Given the description of an element on the screen output the (x, y) to click on. 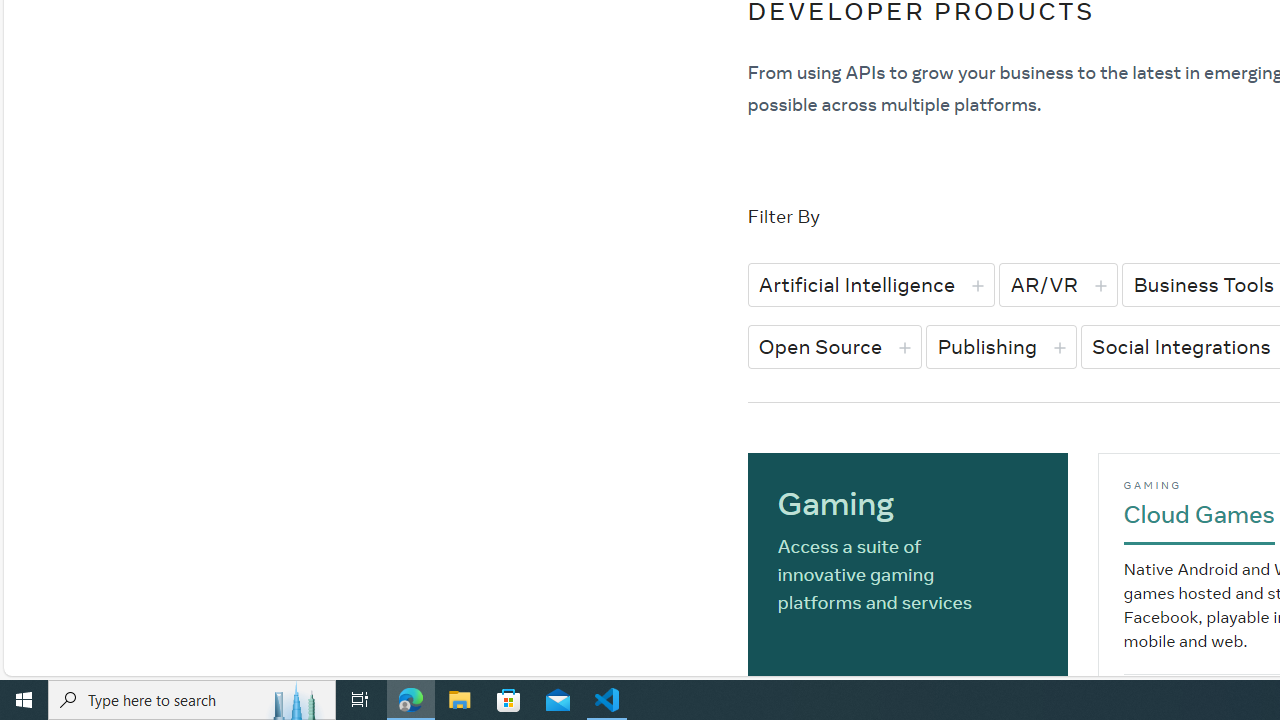
Artificial Intelligence (871, 284)
AR/VR (1058, 284)
Publishing (1001, 346)
Open Source (834, 346)
